Given the description of an element on the screen output the (x, y) to click on. 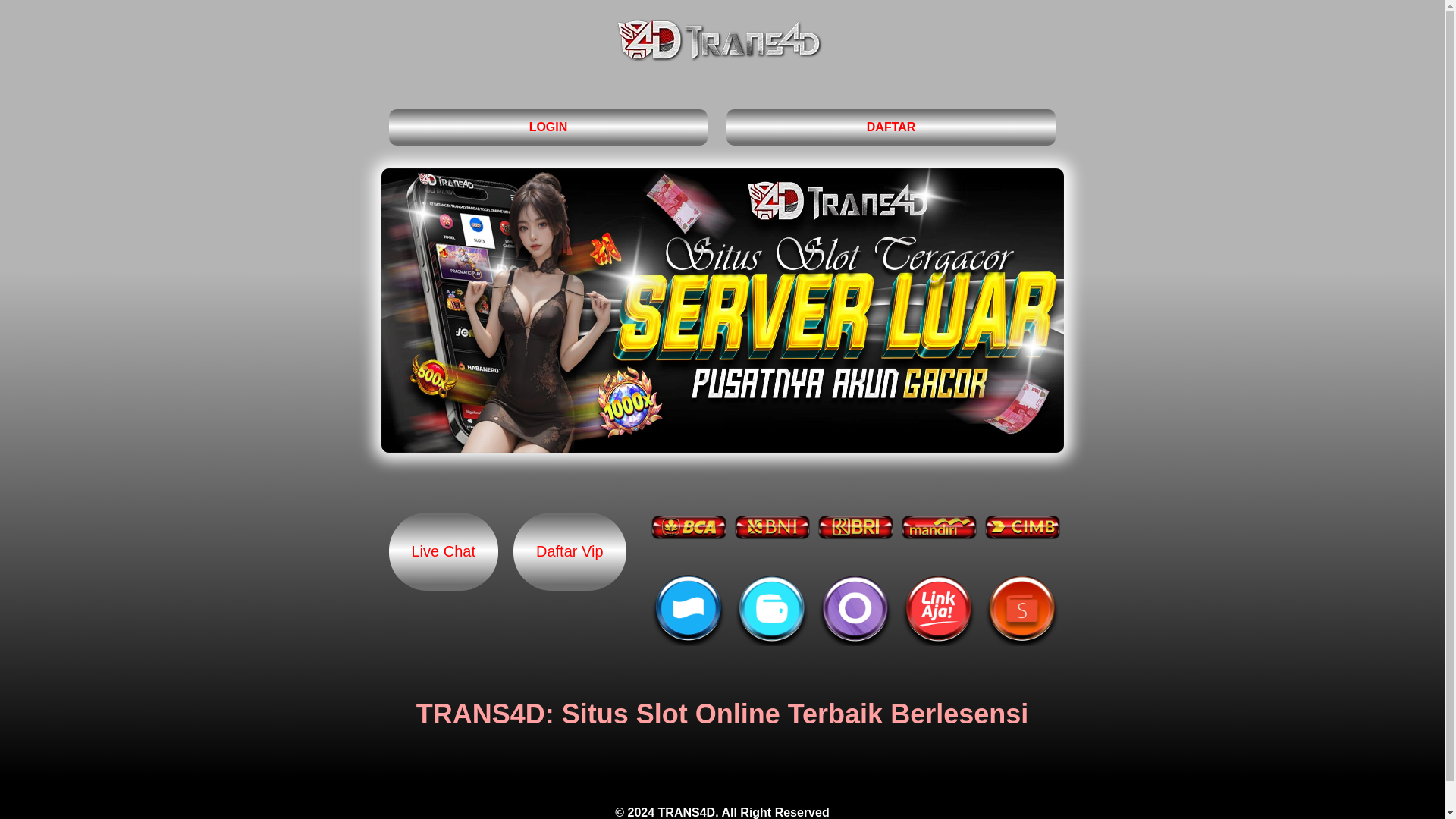
LOGIN (547, 126)
Live Chat (442, 551)
Daftar Vip (569, 551)
DAFTAR (891, 126)
